Given the description of an element on the screen output the (x, y) to click on. 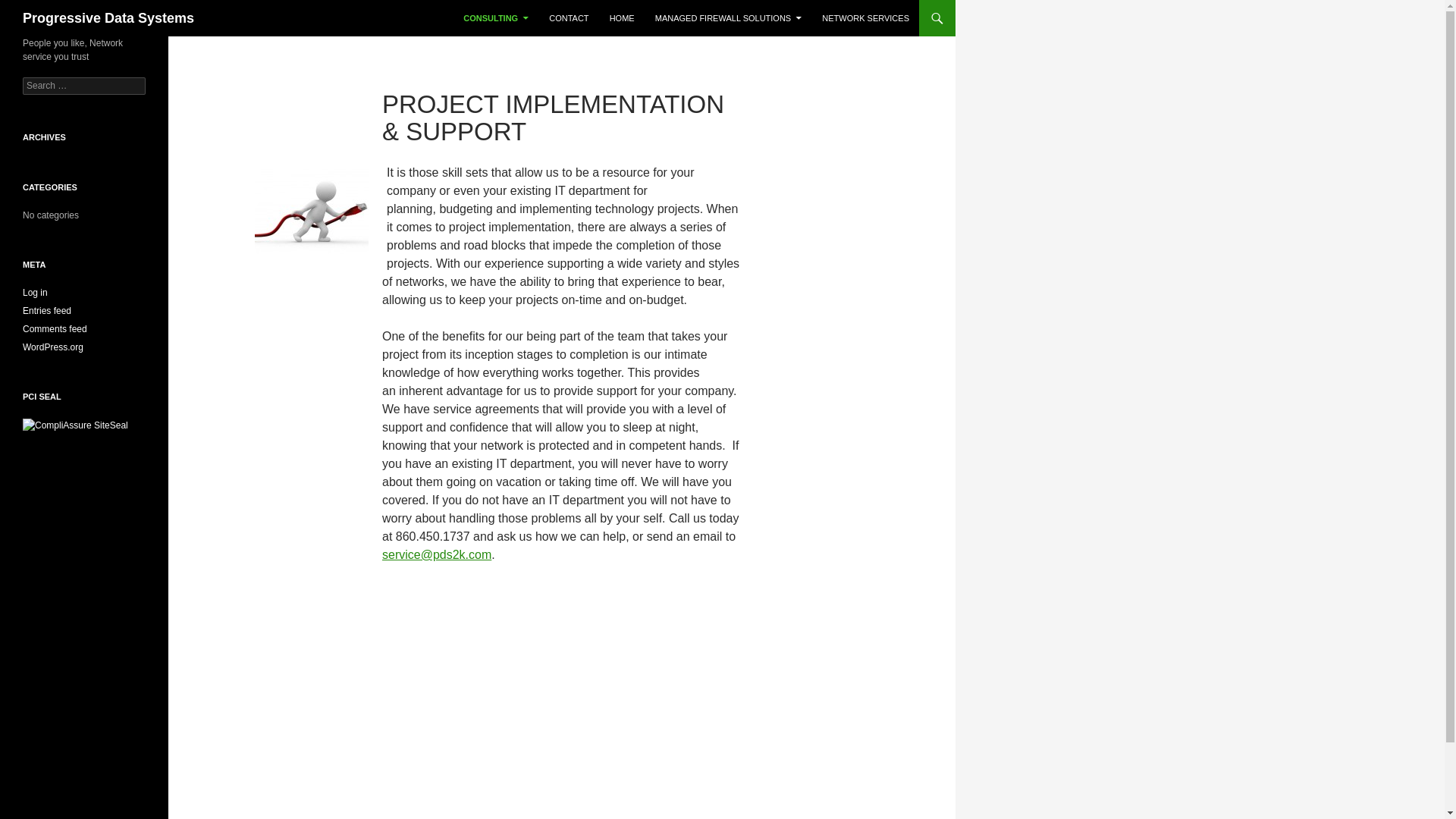
CONTACT (568, 18)
WordPress.org (52, 347)
Comments feed (55, 328)
MANAGED FIREWALL SOLUTIONS (728, 18)
HOME (621, 18)
Log in (35, 292)
CONSULTING (495, 18)
Search (30, 8)
Progressive Data Systems (108, 18)
NETWORK SERVICES (865, 18)
Entries feed (47, 310)
